Given the description of an element on the screen output the (x, y) to click on. 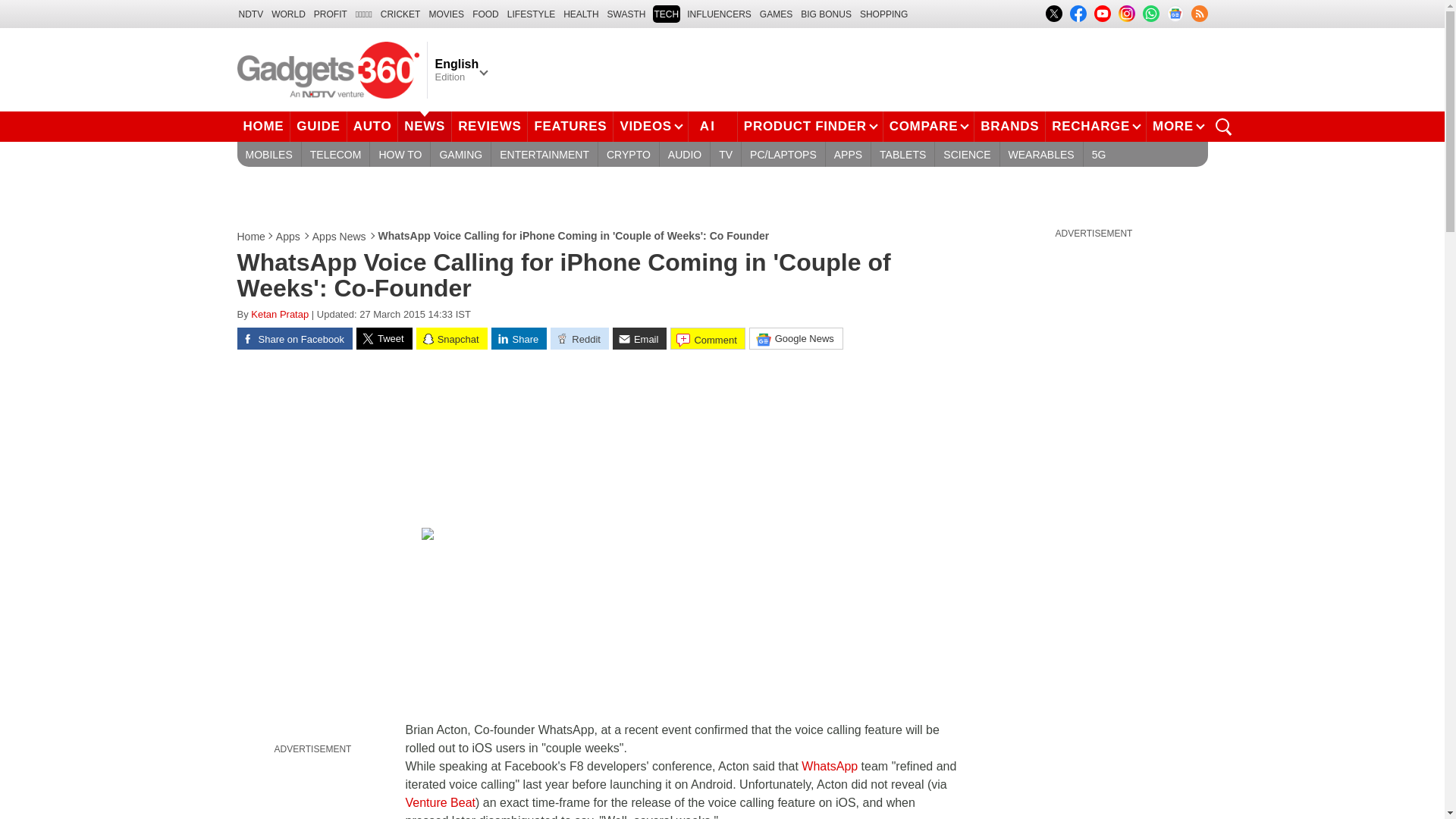
RSS (1199, 13)
Home (250, 236)
MOVIES (445, 13)
CRICKET (400, 13)
WORLD (288, 13)
GUIDE (317, 126)
SWASTH (626, 13)
HEALTH (580, 13)
FOOD (485, 13)
SWASTH (626, 13)
Influencers (718, 13)
MOVIES (445, 13)
AUTO (372, 126)
FEATURES (569, 126)
LIFESTYLE (530, 13)
